Given the description of an element on the screen output the (x, y) to click on. 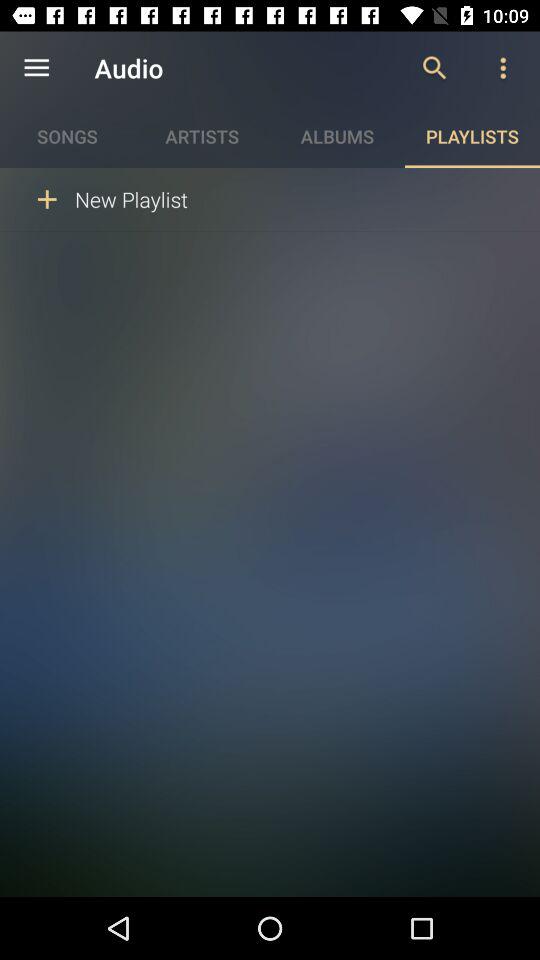
open the icon to the left of the audio (36, 68)
